Given the description of an element on the screen output the (x, y) to click on. 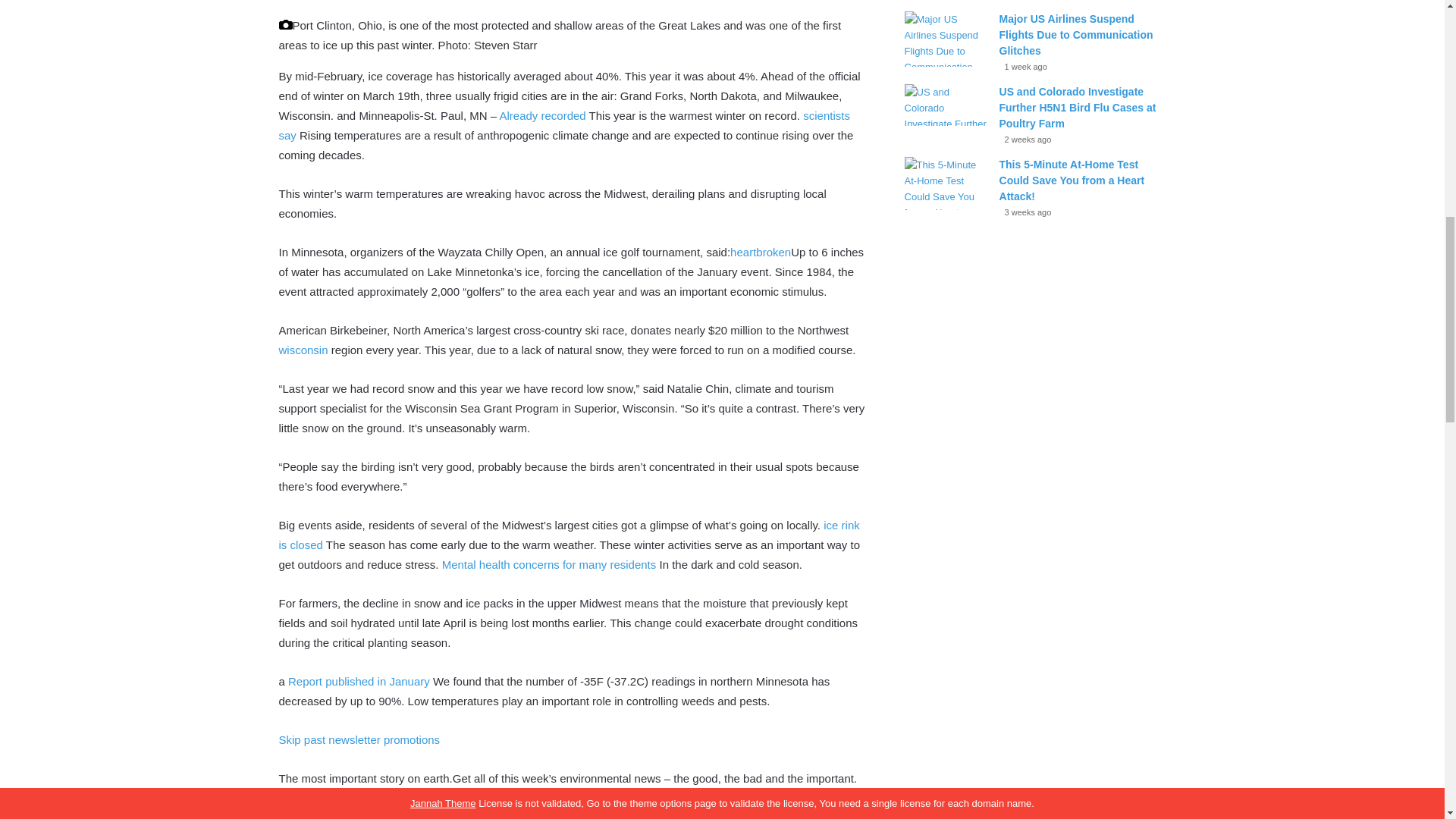
Skip past newsletter promotions (360, 739)
ice rink is closed (569, 534)
wisconsin (304, 349)
Mental health concerns for many residents (549, 563)
Report published in January (358, 680)
scientists say (564, 124)
Already recorded (542, 115)
heartbroken (760, 251)
